Given the description of an element on the screen output the (x, y) to click on. 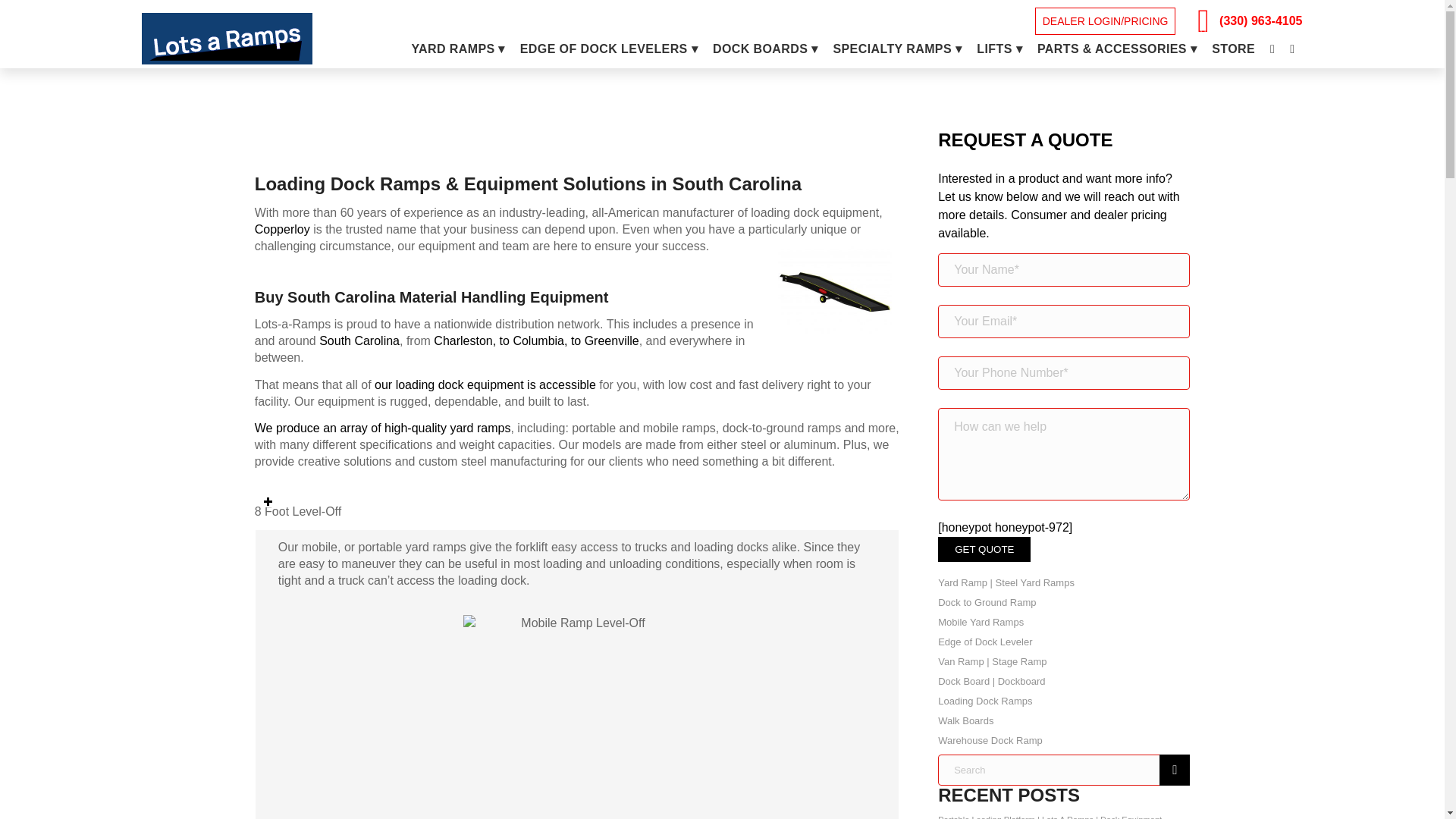
Click to start search (1173, 769)
SPECIALTY RAMPS (897, 48)
LIFTS (999, 48)
YARD RAMPS (457, 48)
South Carolina yard ramps (834, 289)
EDGE OF DOCK LEVELERS (608, 48)
DOCK BOARDS (764, 48)
mobile ramps are great to attach to trucks (576, 708)
GET QUOTE (983, 549)
